Given the description of an element on the screen output the (x, y) to click on. 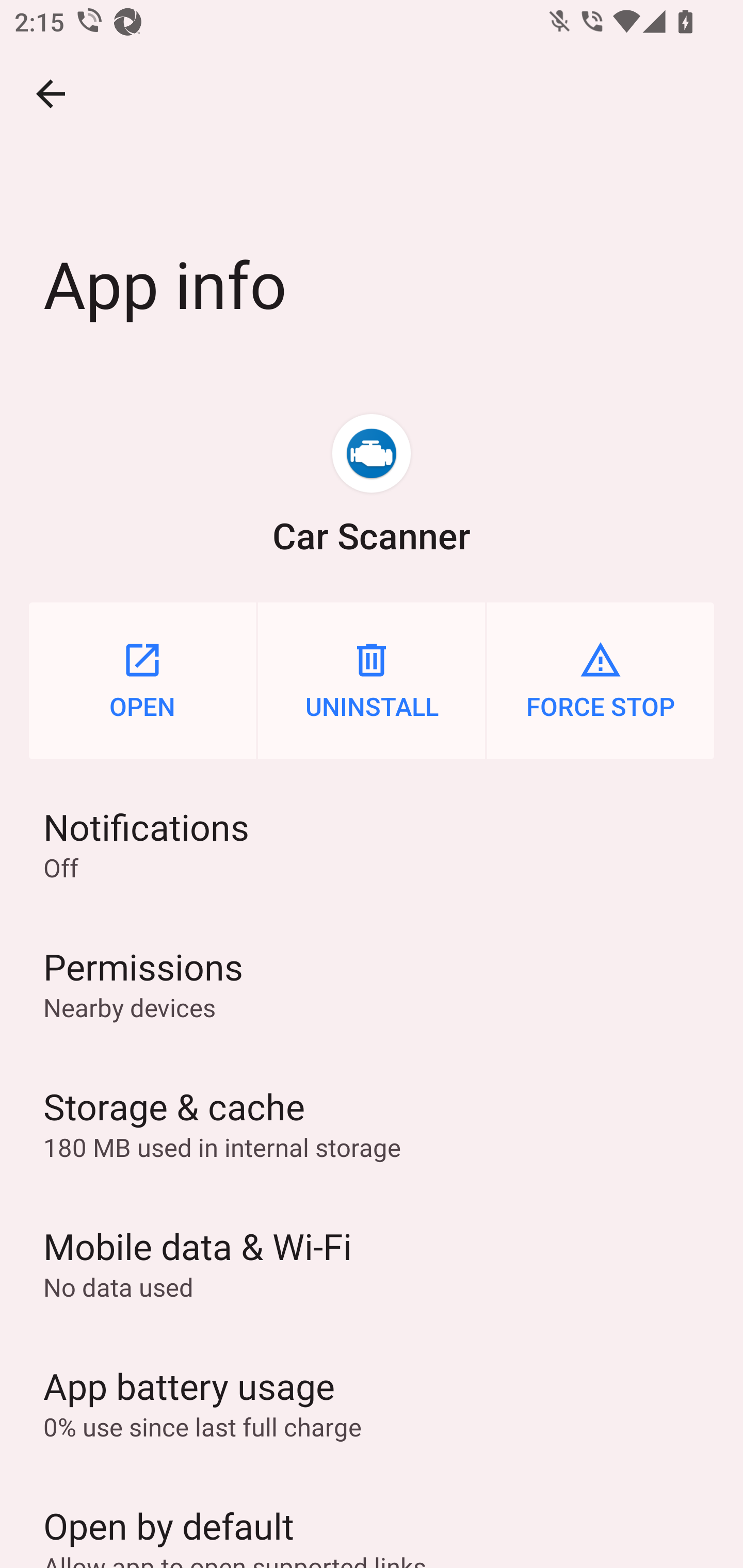
Navigate up (50, 93)
OPEN (141, 680)
UNINSTALL (371, 680)
FORCE STOP (600, 680)
Notifications Off (371, 843)
Permissions Nearby devices (371, 983)
Storage & cache 180 MB used in internal storage (371, 1123)
Mobile data & Wi‑Fi No data used (371, 1262)
App battery usage 0% use since last full charge (371, 1402)
Open by default Allow app to open supported links (371, 1520)
